Given the description of an element on the screen output the (x, y) to click on. 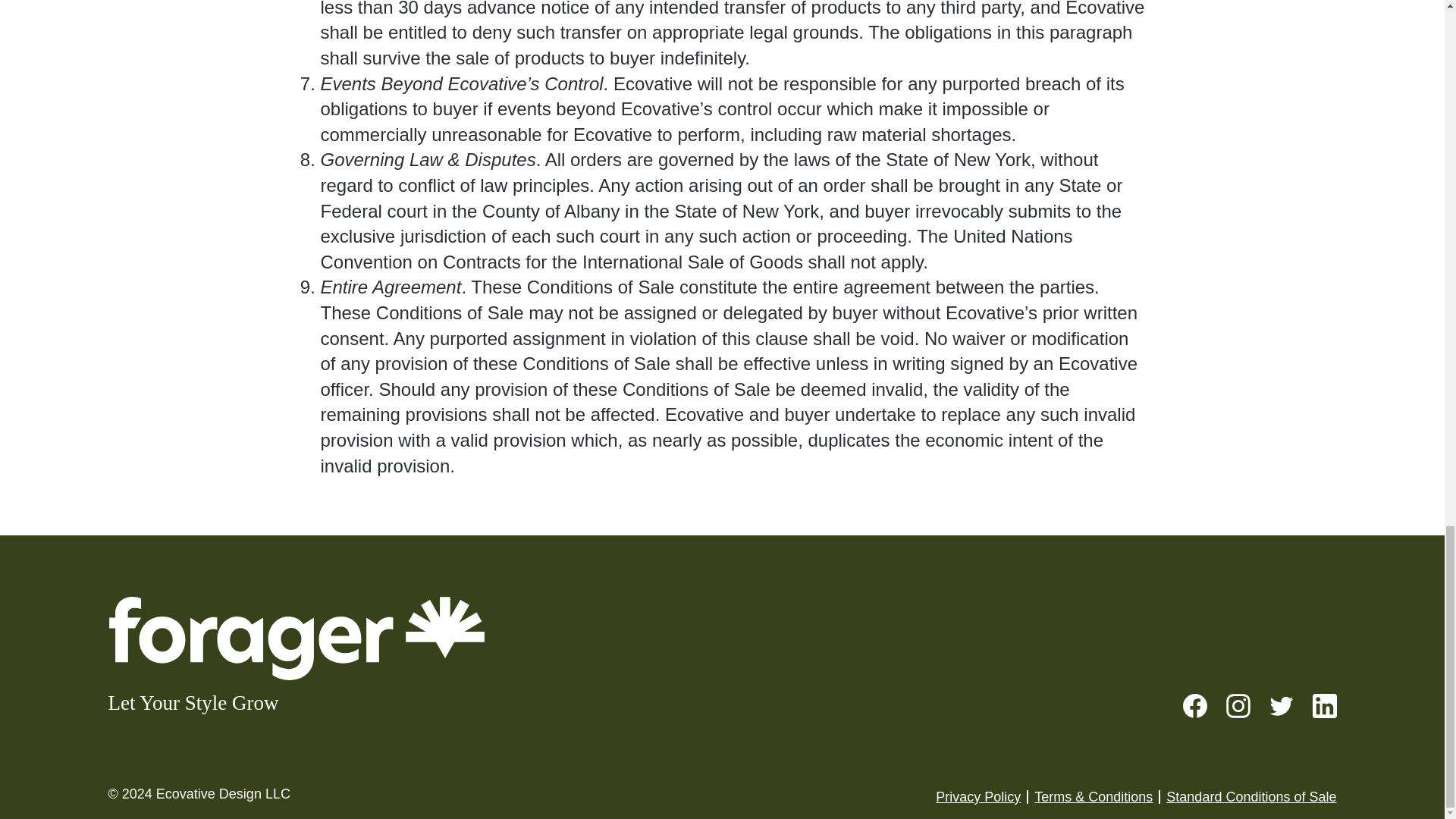
Instagram (1237, 704)
foragerbio on Twitter (1281, 704)
Privacy Policy (978, 796)
Facebook (1194, 704)
LinkedIn (1323, 704)
Twitter (1281, 704)
Let Your Style Grow (295, 657)
foragerbio on Instagram (1237, 704)
foragerbio on Facebook (1194, 704)
Ecovative (185, 793)
